Given the description of an element on the screen output the (x, y) to click on. 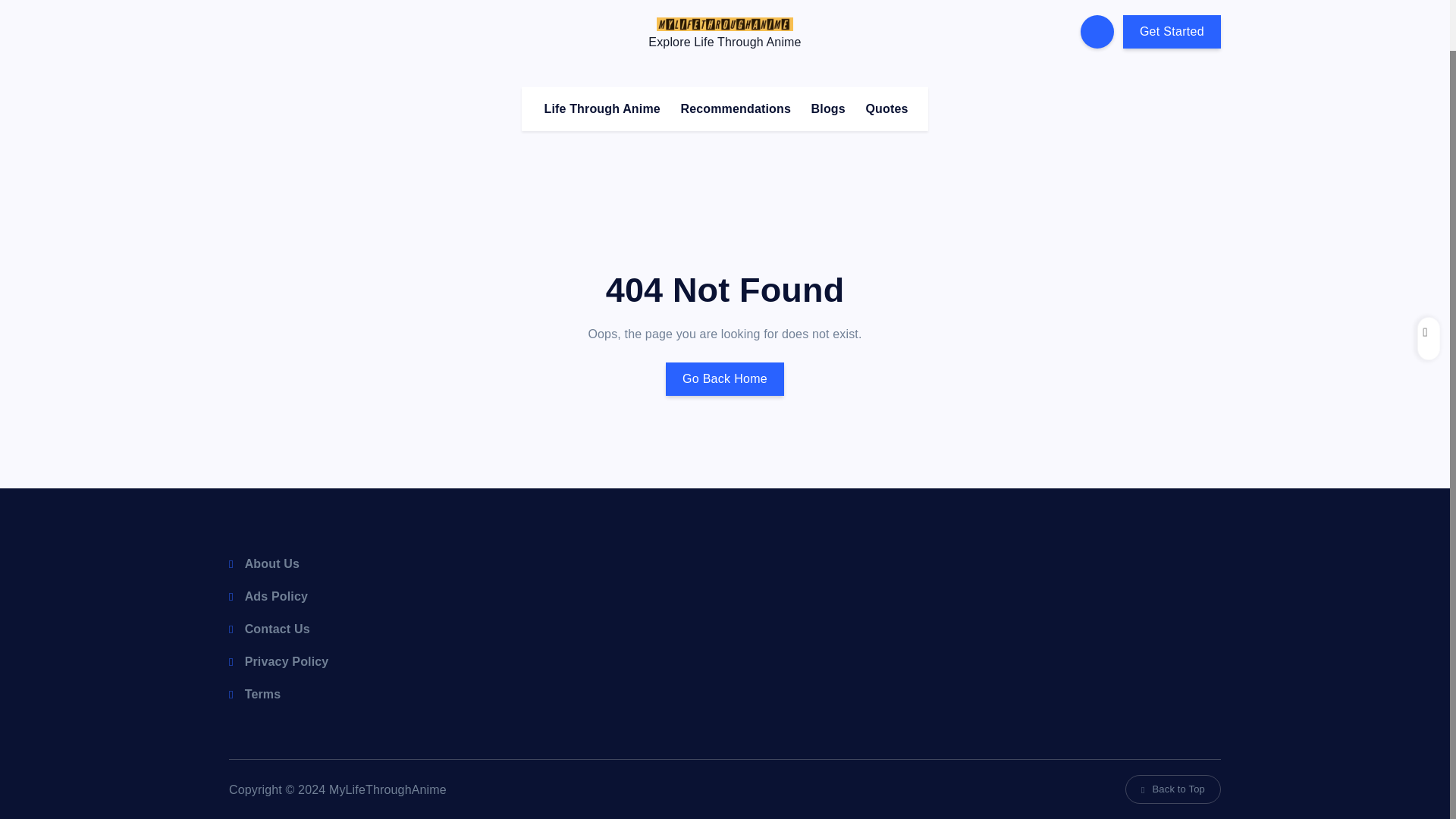
Get Started (1171, 31)
Life Through Anime (601, 108)
Ads Policy (267, 595)
Recommendations (735, 108)
Blogs (828, 108)
Terms (254, 694)
Recommendations (735, 108)
Blogs (828, 108)
Back to Top (1173, 788)
About Us (263, 563)
Quotes (886, 108)
Life Through Anime (601, 108)
Privacy Policy (278, 661)
Quotes (886, 108)
Go Back Home (724, 378)
